Given the description of an element on the screen output the (x, y) to click on. 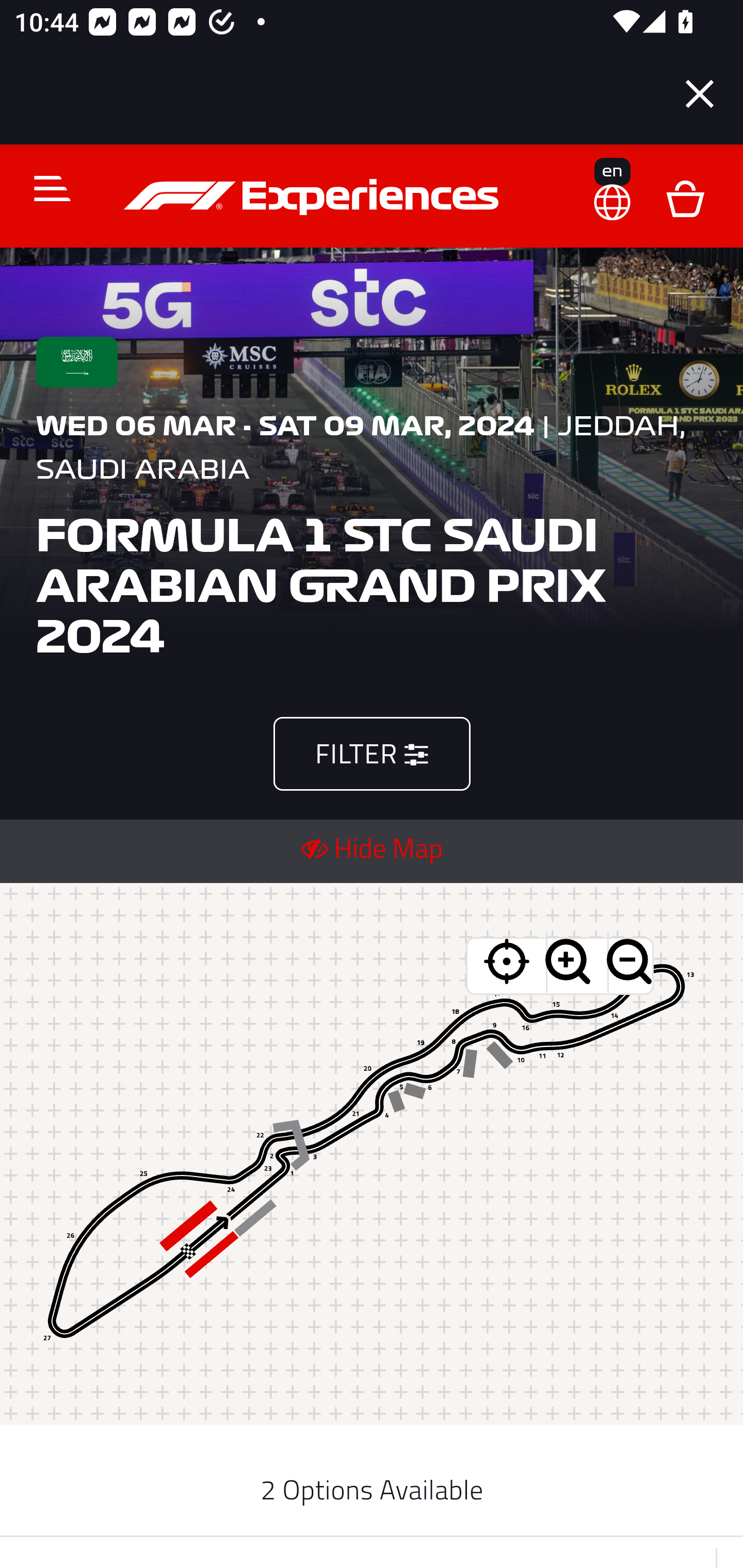
Close (699, 93)
Toggle navigation C (43, 188)
D (684, 197)
f1experiences (313, 197)
FILTER  (371, 753)
 Hide Map   Hide Map (371, 847)
Main Grandstand A Paddock Club (372, 1153)
